Given the description of an element on the screen output the (x, y) to click on. 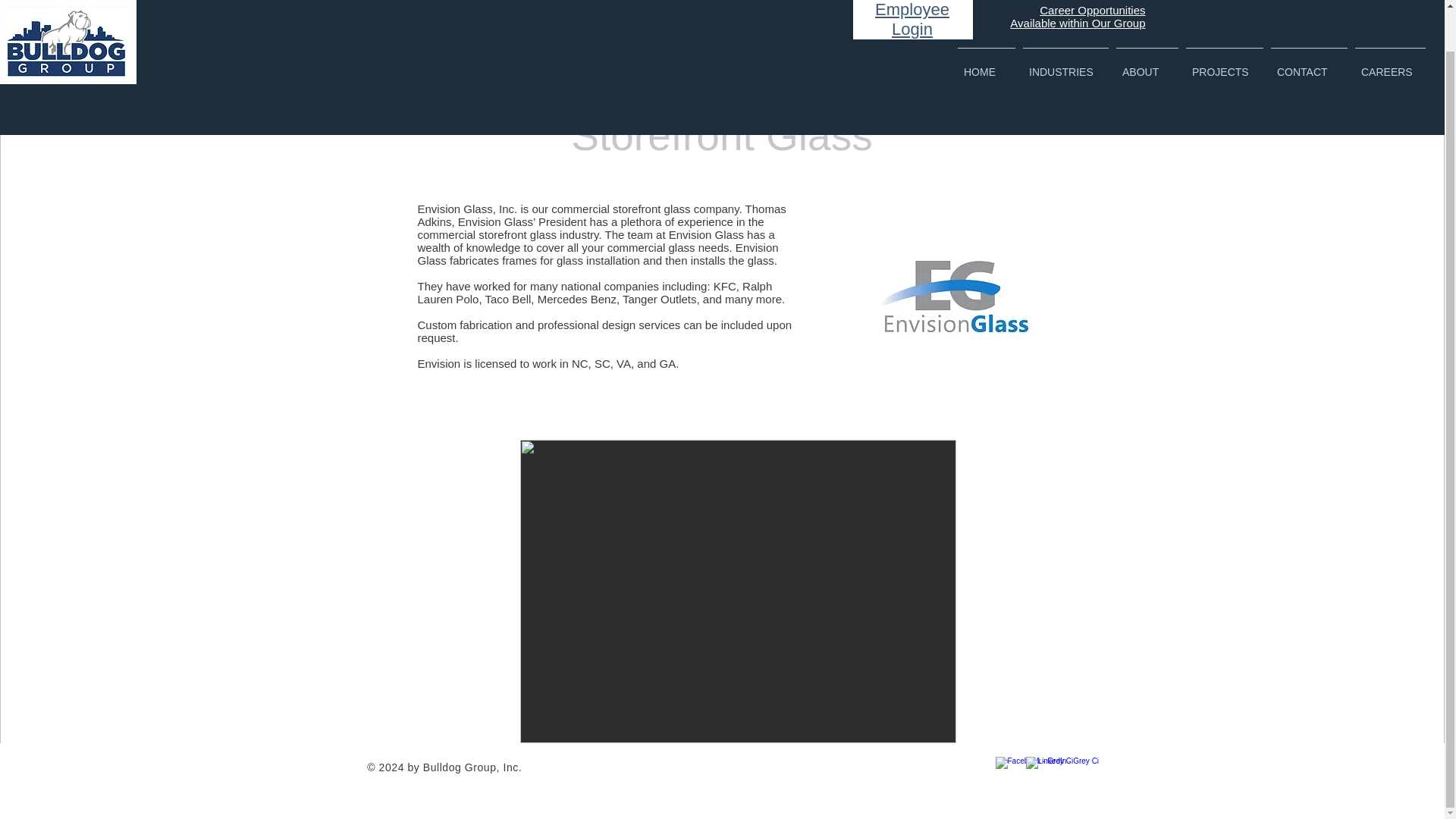
ABOUT (1147, 21)
HOME (986, 21)
CONTACT (1308, 21)
CAREERS (1390, 21)
INDUSTRIES (1065, 21)
PROJECTS (1224, 21)
